Given the description of an element on the screen output the (x, y) to click on. 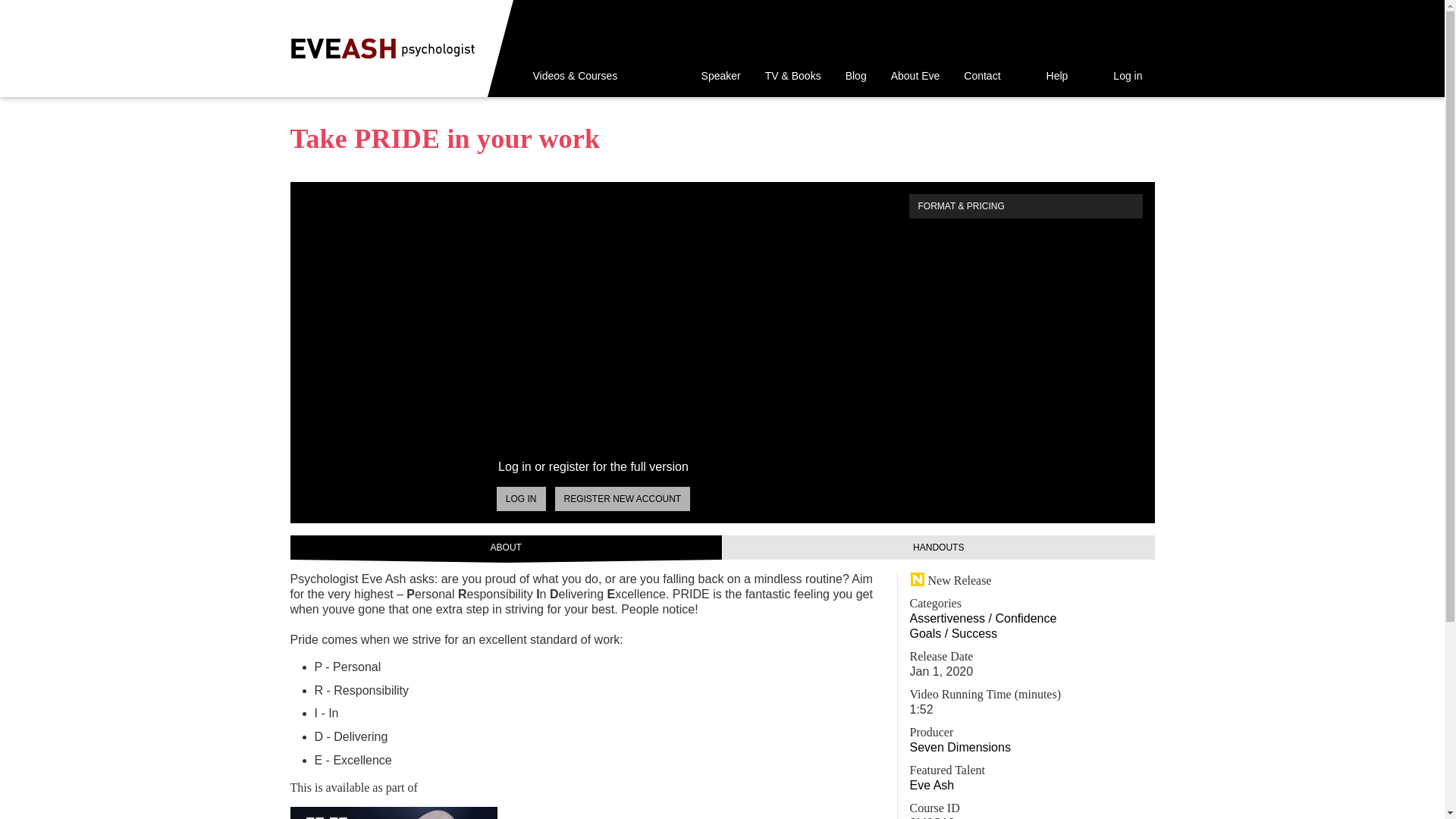
More New Releases (950, 580)
Log in (1117, 75)
Test Media Player (571, 787)
New Release (950, 580)
2 Minutes To Success Series (392, 812)
Contact (981, 75)
Blog (855, 75)
About Eve (915, 75)
Speaker (720, 75)
Terms and Conditions (534, 776)
